Given the description of an element on the screen output the (x, y) to click on. 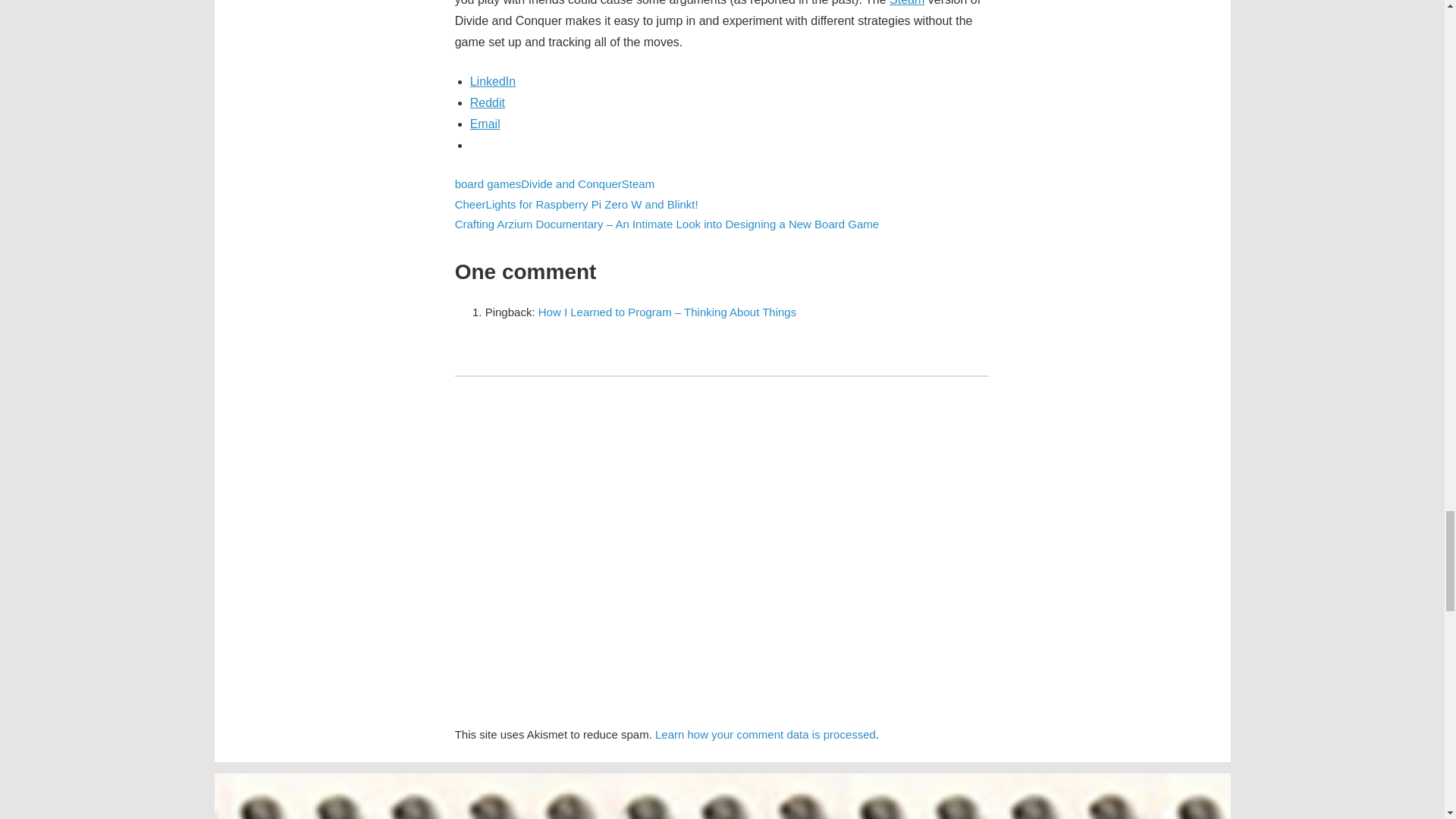
Divide and Conquer (571, 183)
Click to share on LinkedIn (493, 81)
Steam (637, 183)
Steam (906, 2)
LinkedIn (493, 81)
board games (487, 183)
Email (485, 123)
Click to share on Reddit (487, 102)
Click to email a link to a friend (485, 123)
